Given the description of an element on the screen output the (x, y) to click on. 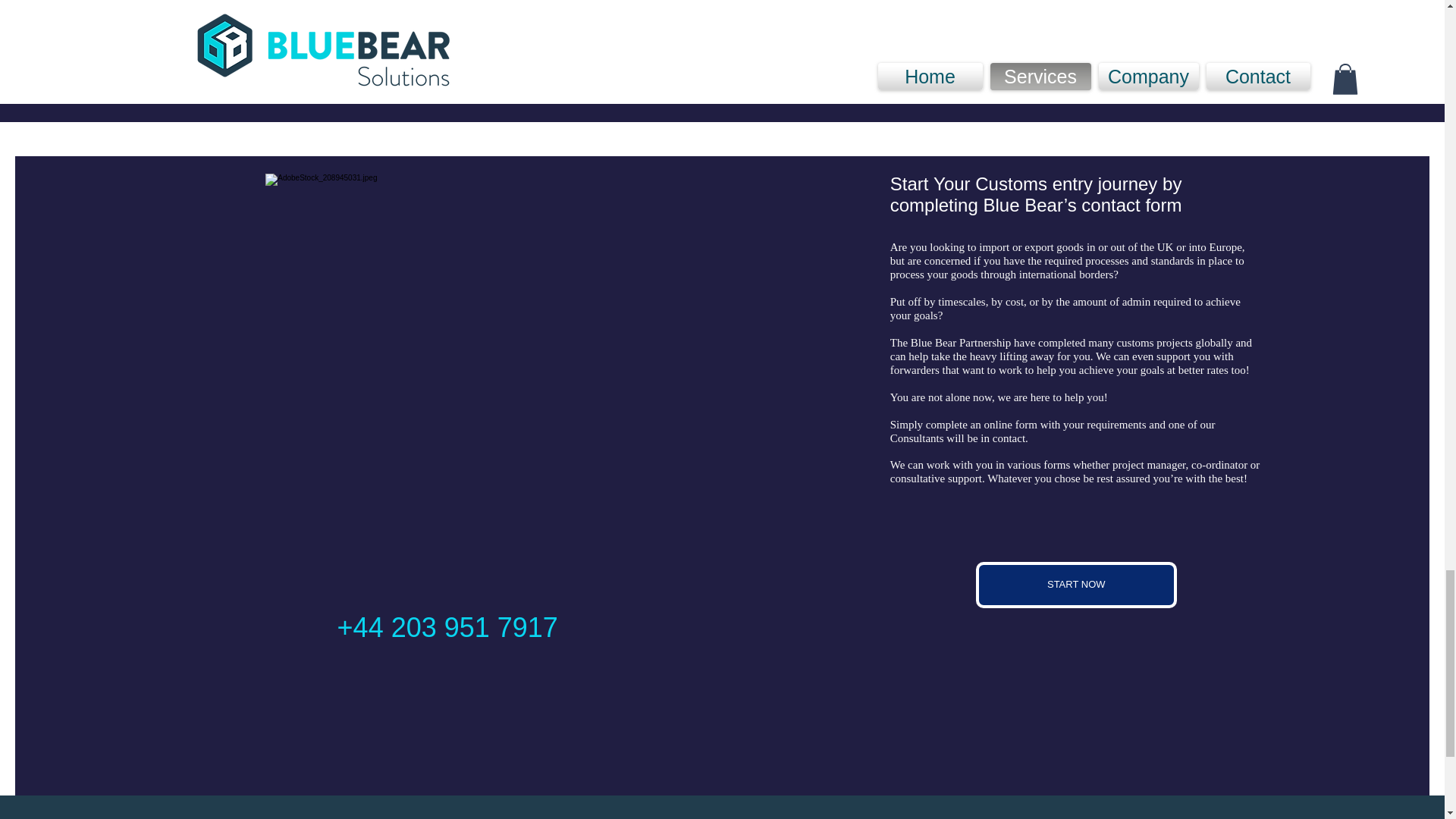
START NOW (1075, 584)
